Given the description of an element on the screen output the (x, y) to click on. 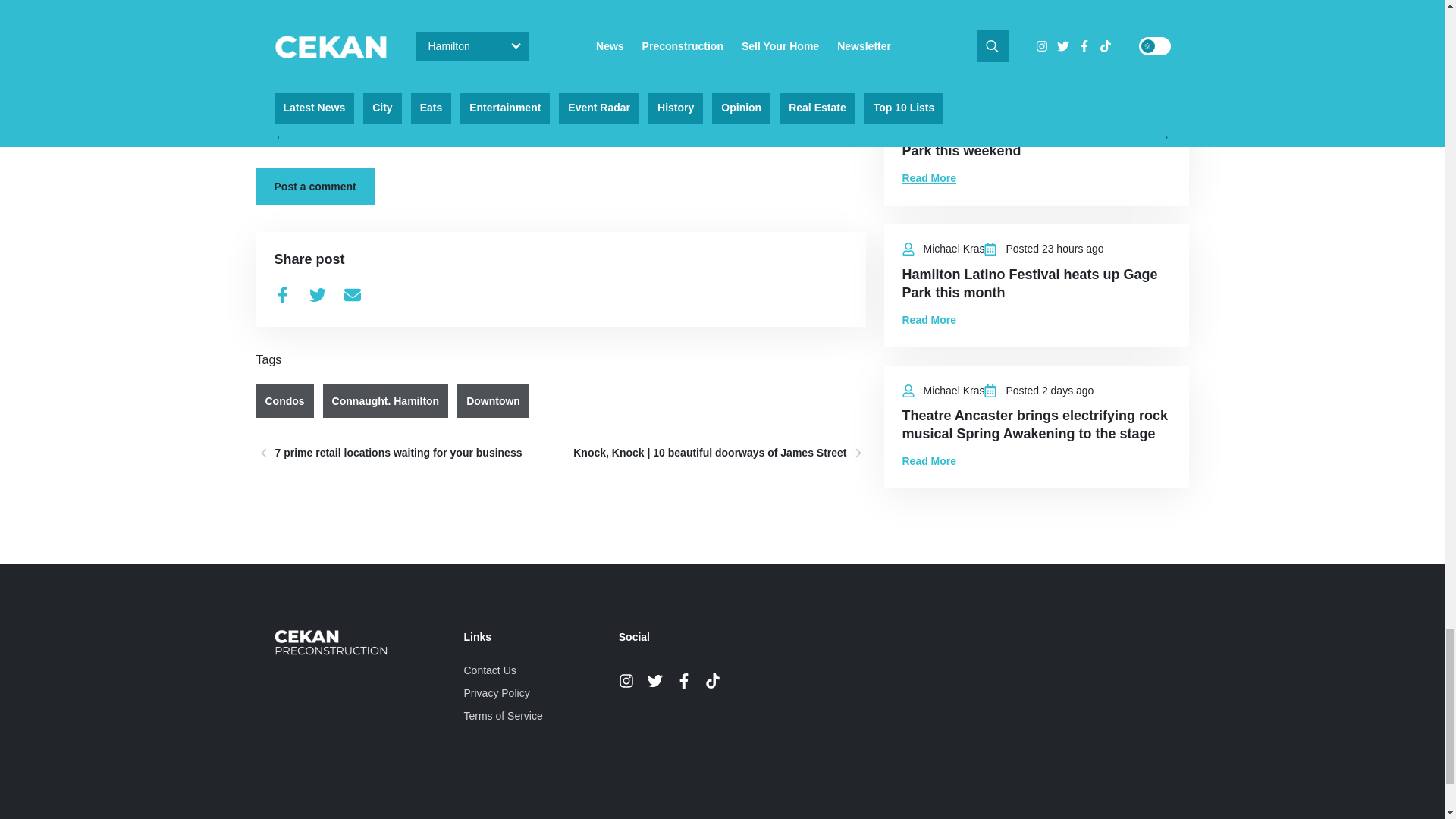
Post a comment (315, 186)
Downtown (493, 400)
Condos (285, 400)
Connaught. Hamilton (385, 400)
7 prime retail locations waiting for your business (403, 453)
